Given the description of an element on the screen output the (x, y) to click on. 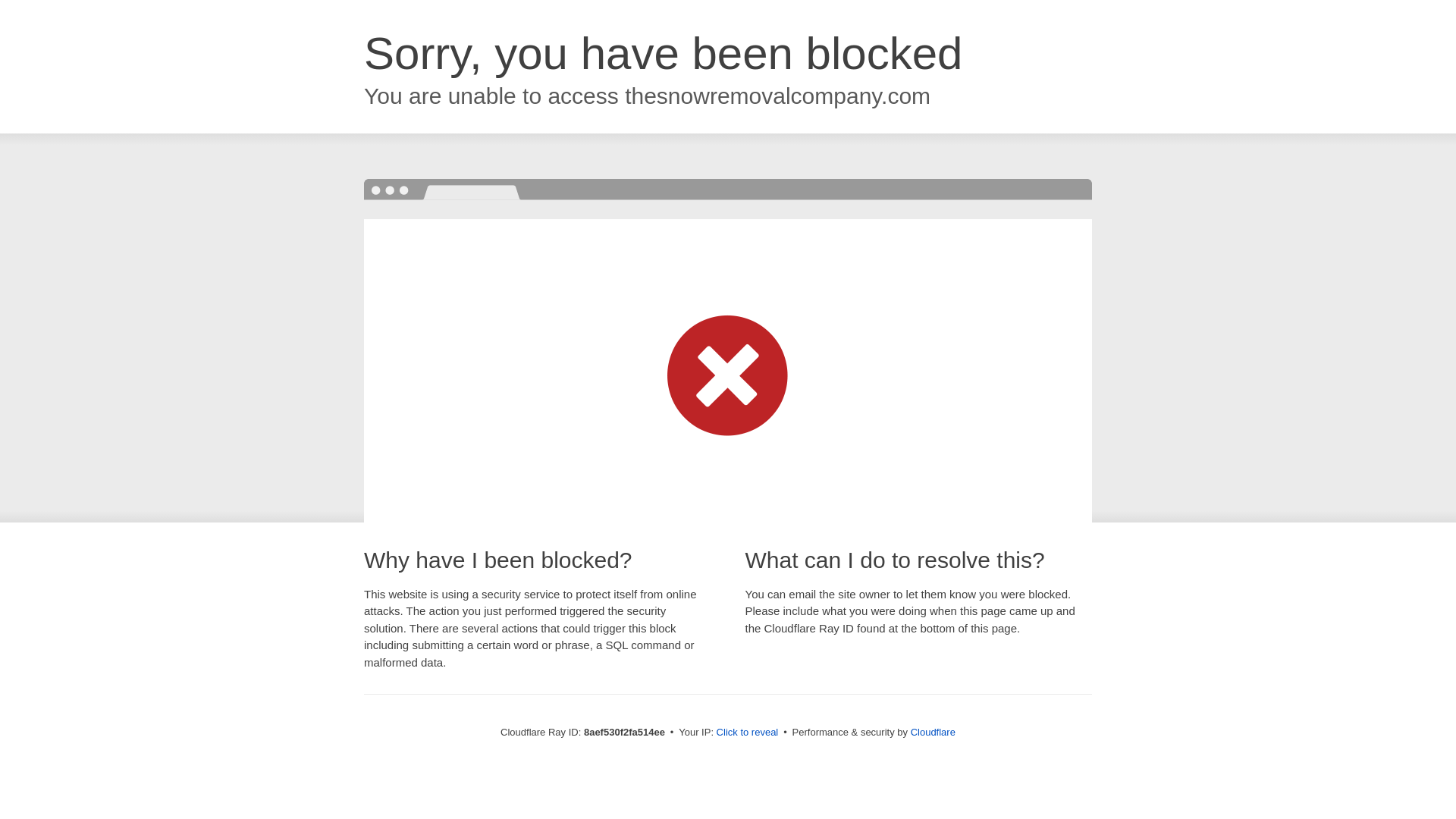
Cloudflare (933, 731)
Click to reveal (747, 732)
